Given the description of an element on the screen output the (x, y) to click on. 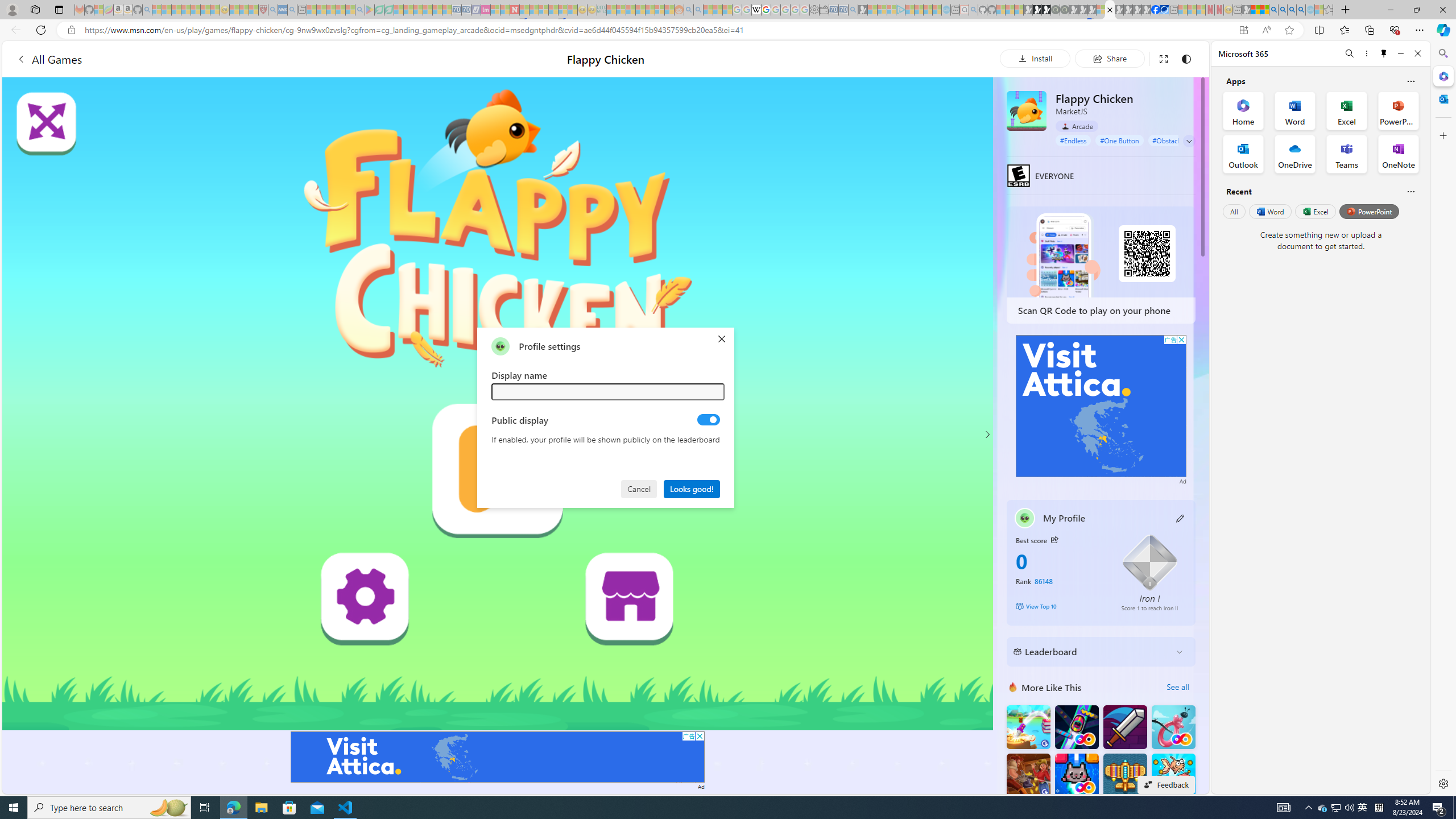
Settings - Sleeping (814, 9)
EVERYONE (1018, 175)
MSNBC - MSN - Sleeping (611, 9)
Advertisement (1101, 405)
Arcade (1076, 125)
